Given the description of an element on the screen output the (x, y) to click on. 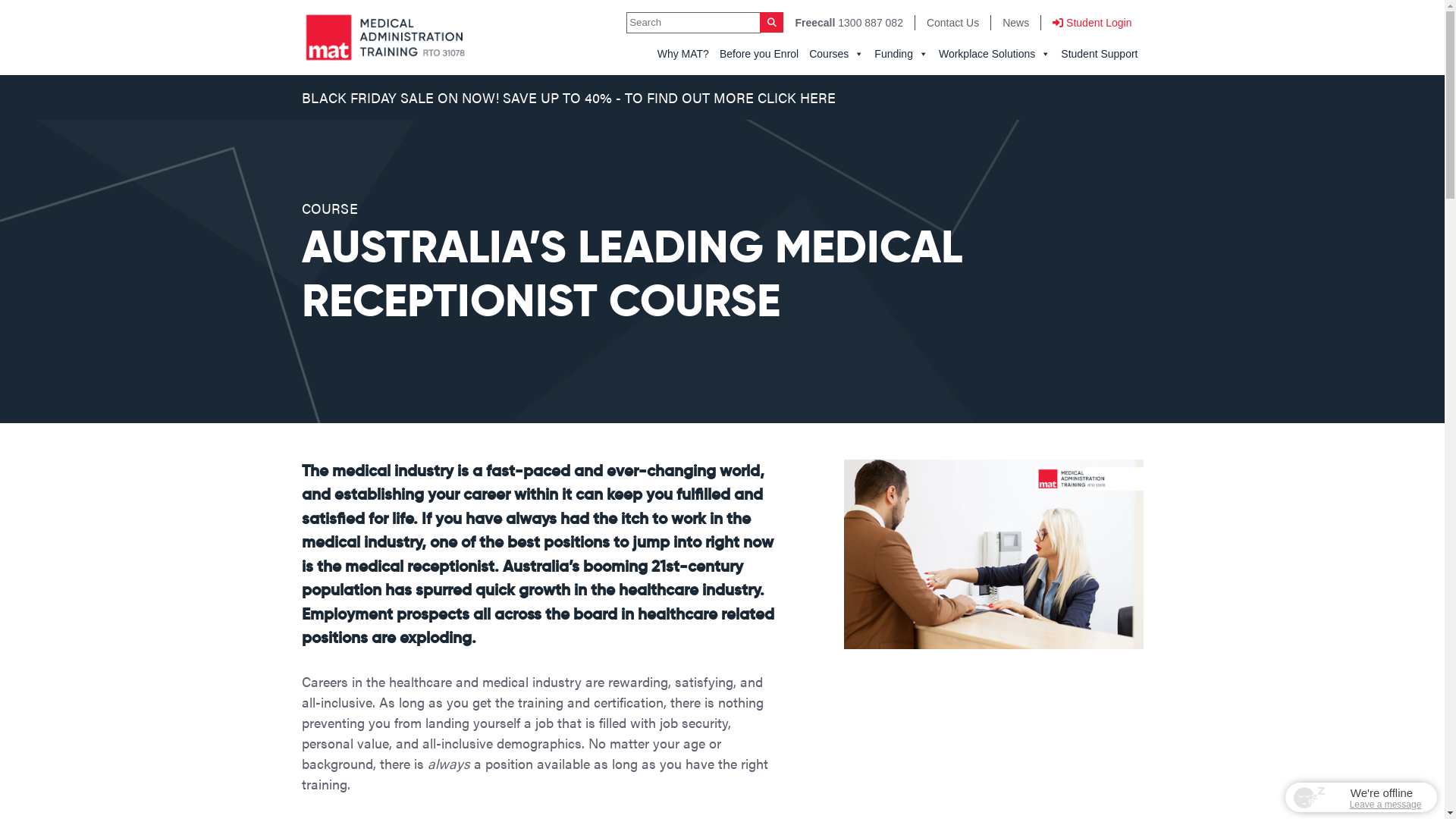
Contact Us Element type: text (952, 22)
CLICK HERE Element type: text (795, 96)
Search Element type: text (771, 22)
Student Login Element type: text (1091, 22)
Before you Enrol Element type: text (758, 54)
Freecall 1300 887 082 Element type: text (848, 22)
Student Support Element type: text (1098, 54)
News Element type: text (1015, 22)
Why MAT? Element type: text (683, 54)
Funding Element type: text (901, 54)
Workplace Solutions Element type: text (994, 54)
Courses Element type: text (836, 54)
